Given the description of an element on the screen output the (x, y) to click on. 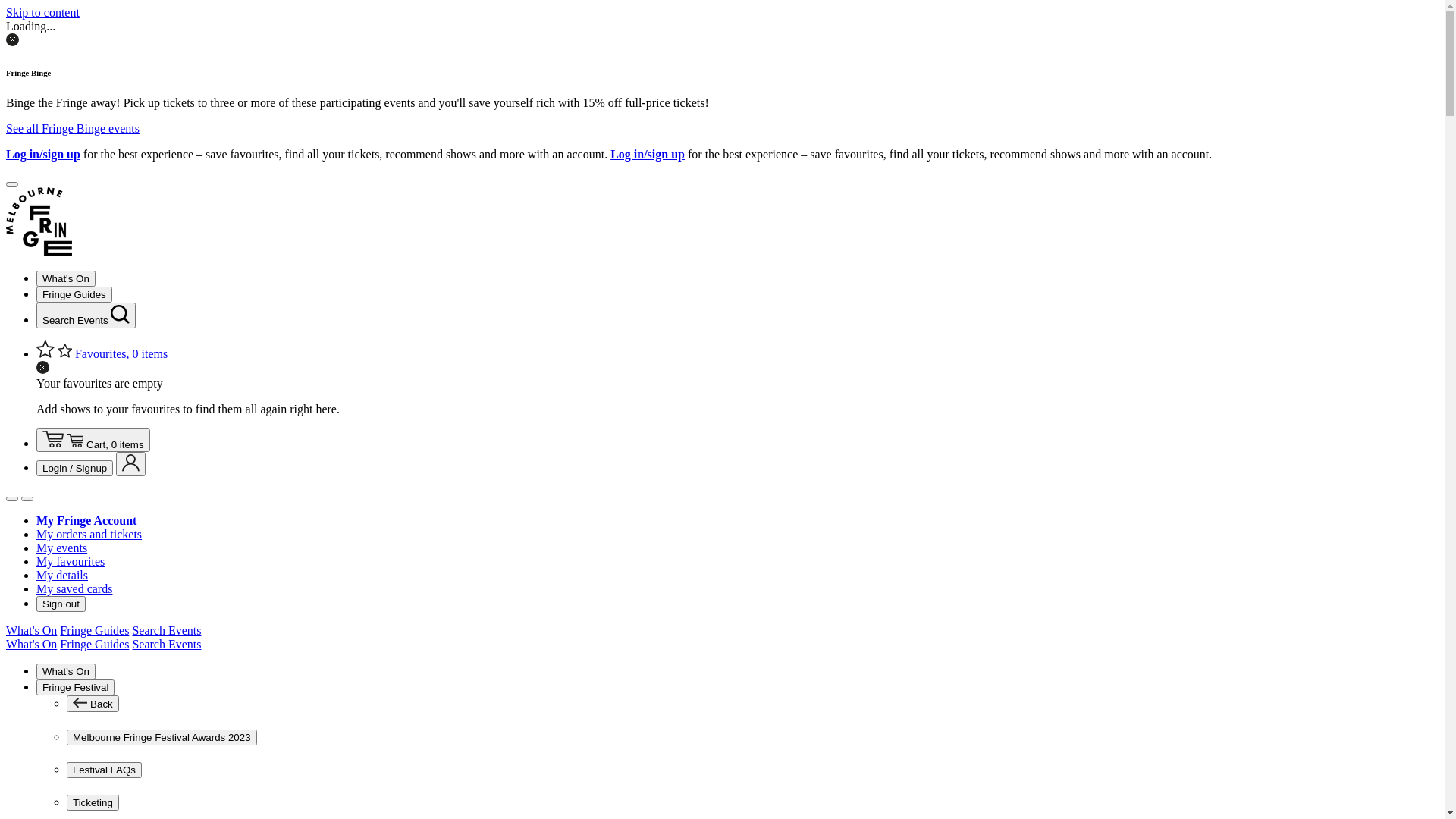
Ticketing Element type: text (92, 802)
My favourites Element type: text (70, 561)
Festival FAQs Element type: text (103, 770)
Fringe Guides Element type: text (93, 630)
My saved cards Element type: text (74, 588)
What's On Element type: text (31, 643)
Skip to content Element type: text (42, 12)
Log in/sign up Element type: text (43, 153)
What's On Element type: text (65, 278)
Favourites, 0 items Element type: text (101, 353)
Cart, 0 items Element type: text (93, 440)
Search Events Element type: text (165, 643)
Fringe Guides Element type: text (74, 294)
Back Element type: text (92, 703)
Login / Signup Element type: text (74, 468)
Sign out Element type: text (60, 603)
My orders and tickets Element type: text (88, 533)
Search Events Element type: text (85, 315)
See all Fringe Binge events Element type: text (72, 128)
My Fringe Account Element type: text (86, 520)
What's On Element type: text (31, 630)
Fringe Guides Element type: text (93, 643)
Search Events Element type: text (165, 630)
Log in/sign up Element type: text (647, 153)
My details Element type: text (61, 574)
Melbourne Fringe Festival Awards 2023 Element type: text (161, 737)
Fringe Festival Element type: text (75, 687)
My events Element type: text (61, 547)
